Given the description of an element on the screen output the (x, y) to click on. 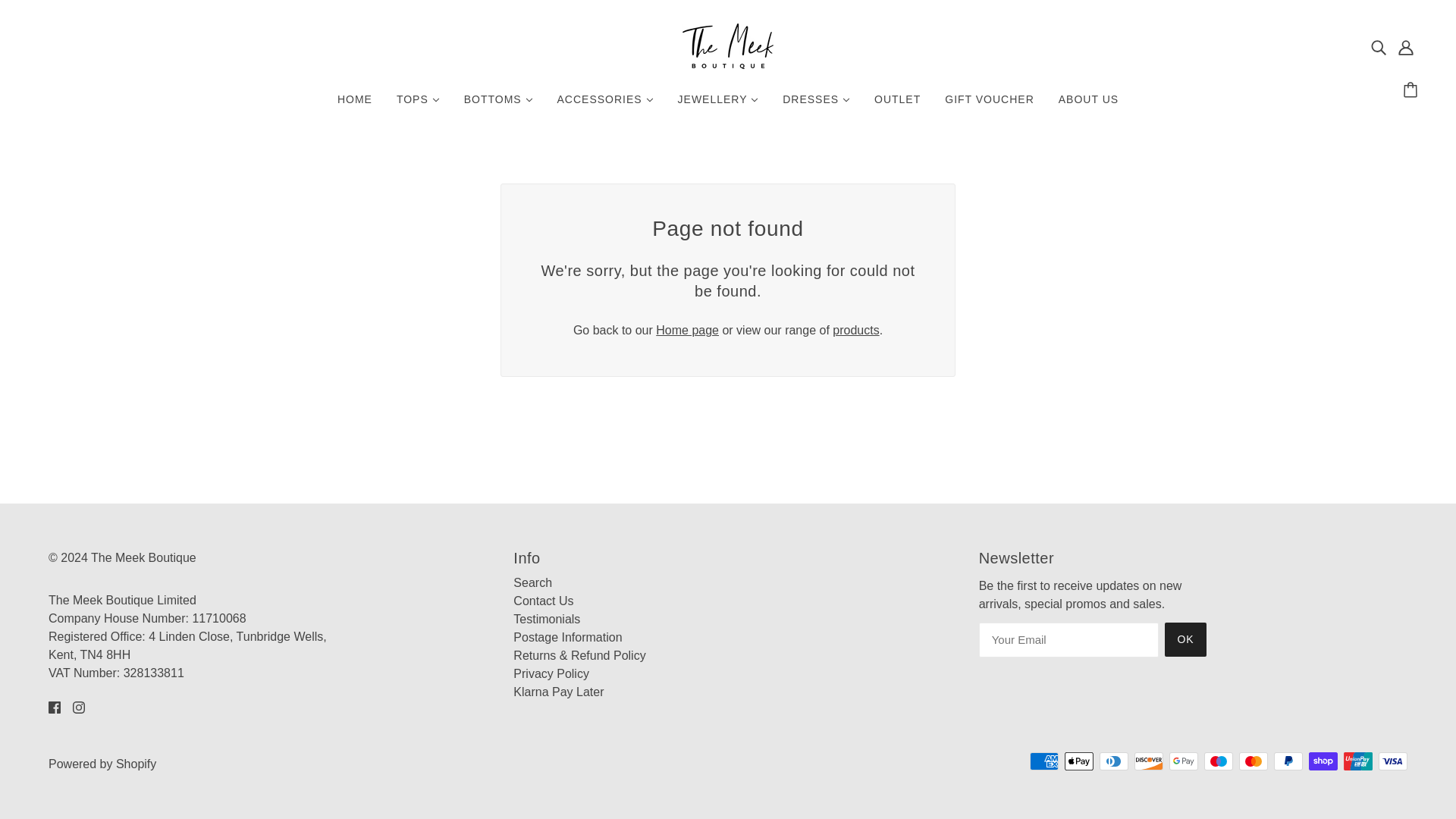
ACCESSORIES  (604, 104)
The Meek Boutique (727, 63)
BOTTOMS  (497, 104)
Postage Information (567, 636)
Privacy Policy (551, 673)
Contact Us (543, 600)
Testimonials (546, 618)
Klarna Pay Later (558, 691)
DRESSES  (815, 104)
HOME (354, 104)
